Given the description of an element on the screen output the (x, y) to click on. 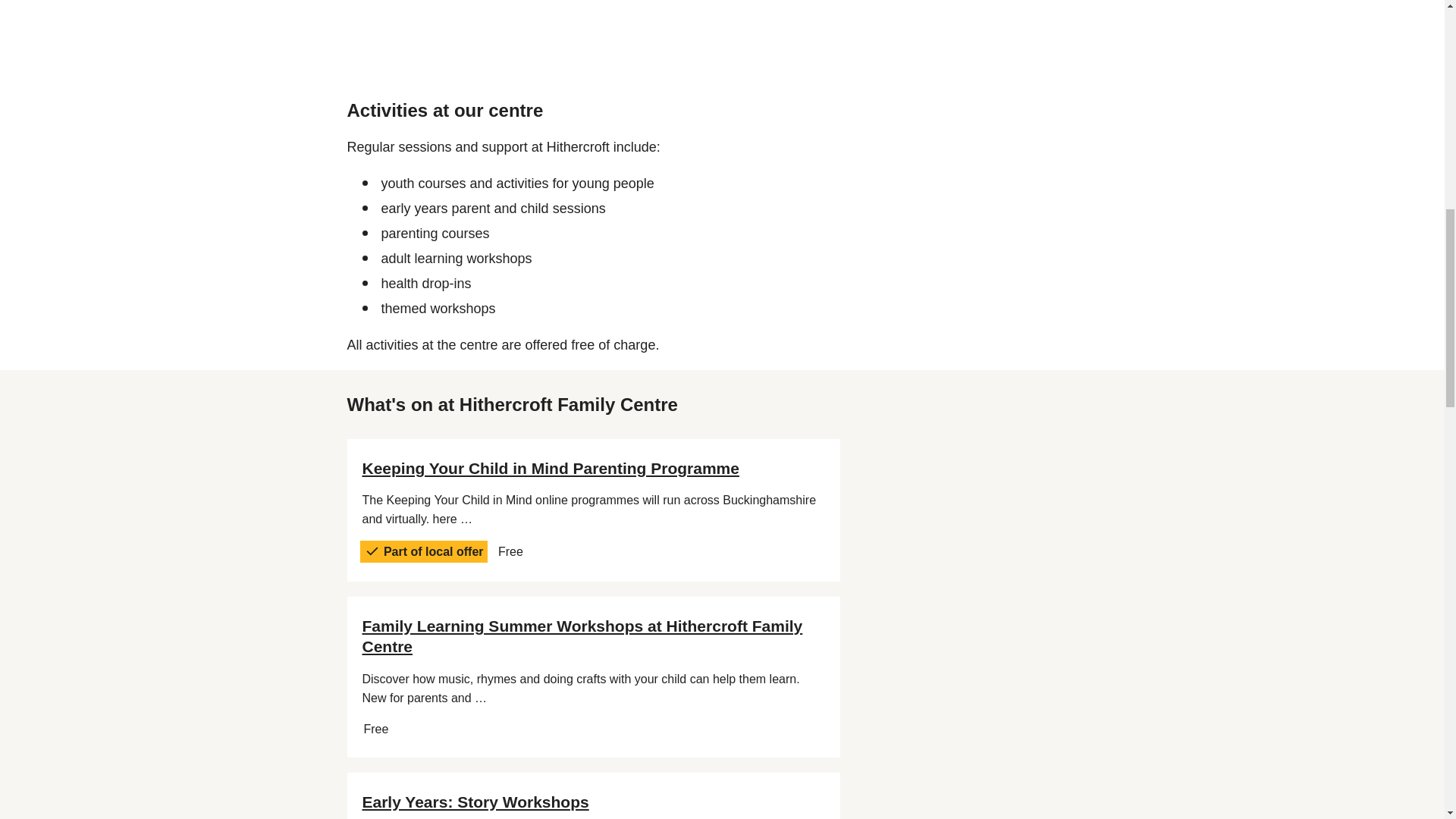
Early Years: Story Workshops (475, 801)
Keeping Your Child in Mind Parenting Programme (550, 467)
